Given the description of an element on the screen output the (x, y) to click on. 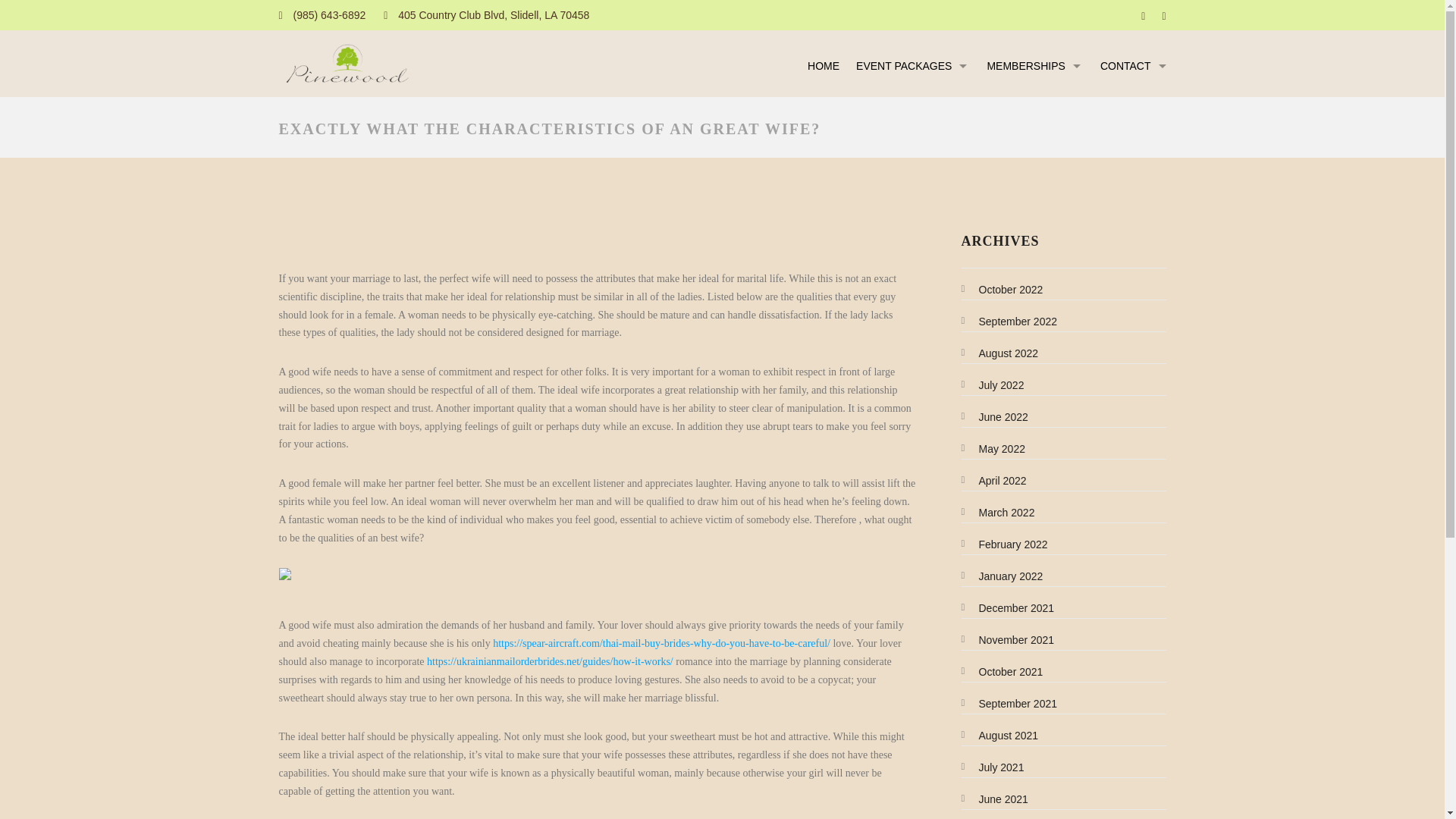
October 2021 (1002, 671)
MEMBERSHIPS (1034, 69)
Pinewood Country Club (347, 63)
April 2022 (994, 480)
January 2022 (1002, 576)
October 2022 (1002, 289)
June 2022 (995, 417)
July 2022 (993, 385)
September 2022 (1010, 321)
February 2022 (1004, 544)
November 2021 (1008, 639)
March 2022 (998, 512)
September 2021 (1010, 703)
December 2021 (1008, 607)
July 2021 (993, 767)
